Given the description of an element on the screen output the (x, y) to click on. 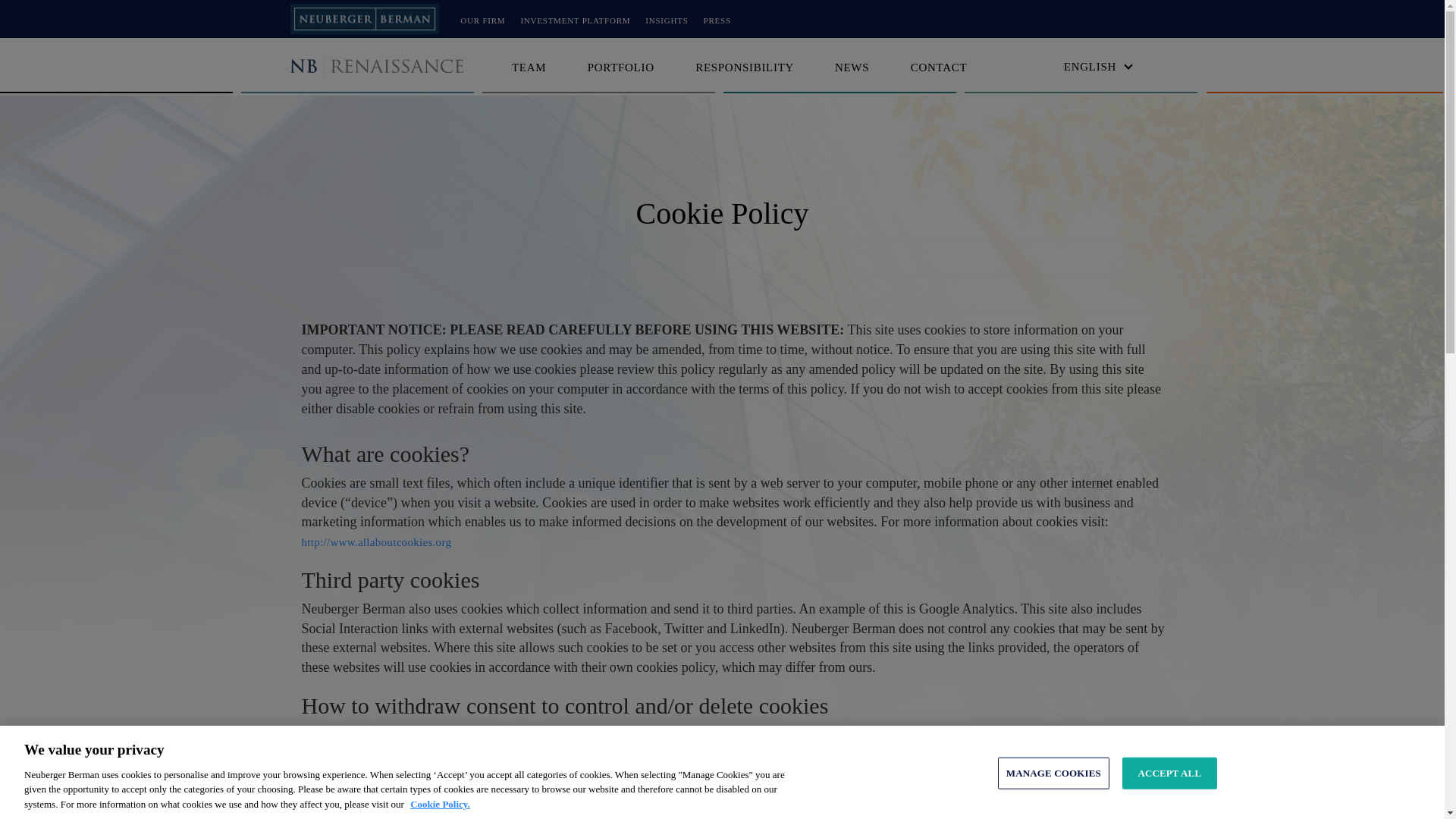
INSIGHTS (666, 20)
RESPONSIBILITY (745, 67)
Logo (389, 66)
Click for more info on NB (364, 18)
Cookie Policy. (440, 813)
PRESS (716, 20)
OUR FIRM (482, 20)
INVESTMENT PLATFORM (574, 20)
PORTFOLIO (620, 67)
MANAGE COOKIES (1053, 780)
CONTACT (939, 67)
TEAM (529, 67)
ACCEPT ALL (1169, 779)
NEWS (851, 67)
